Given the description of an element on the screen output the (x, y) to click on. 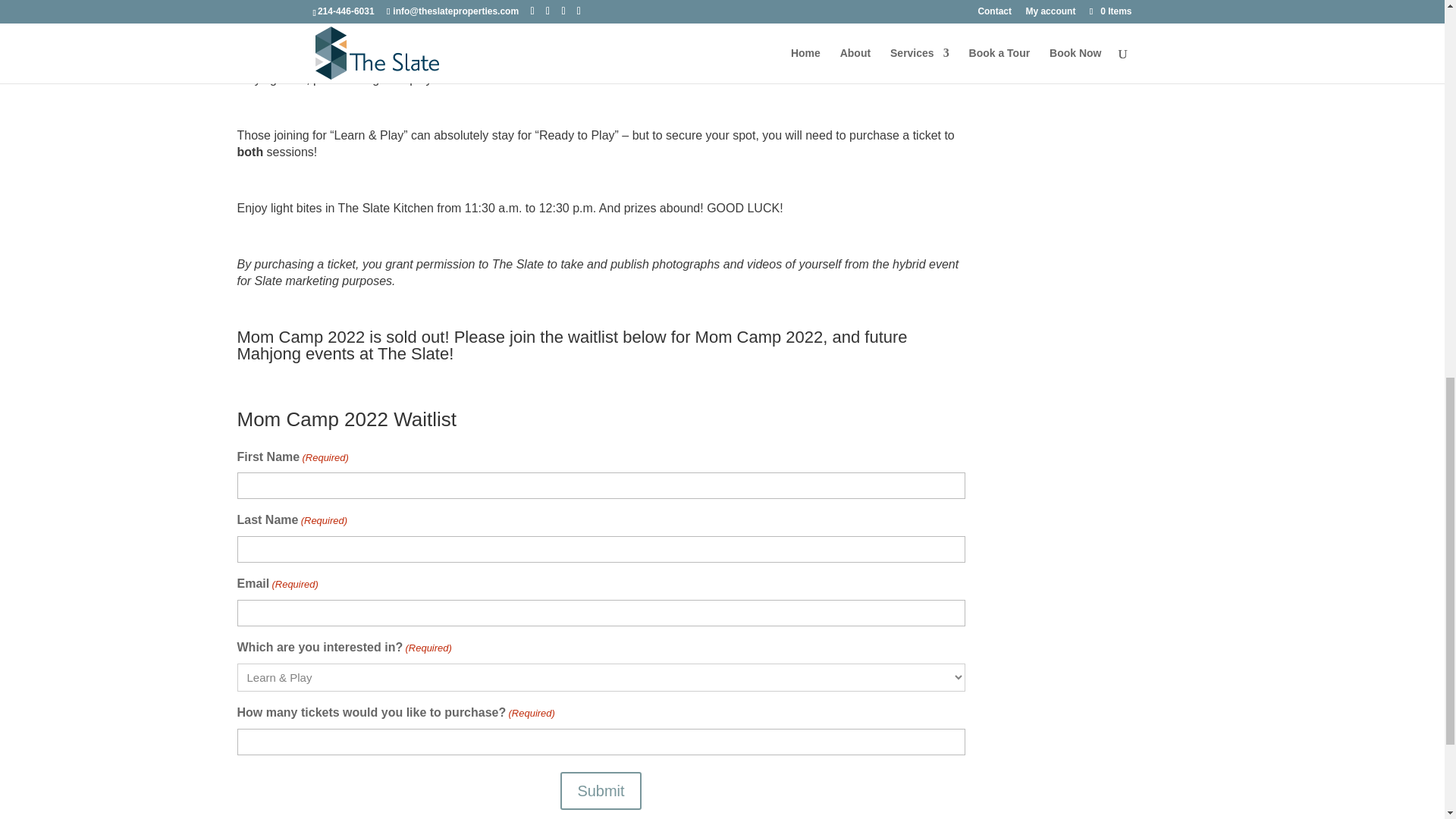
Submit (600, 790)
